Given the description of an element on the screen output the (x, y) to click on. 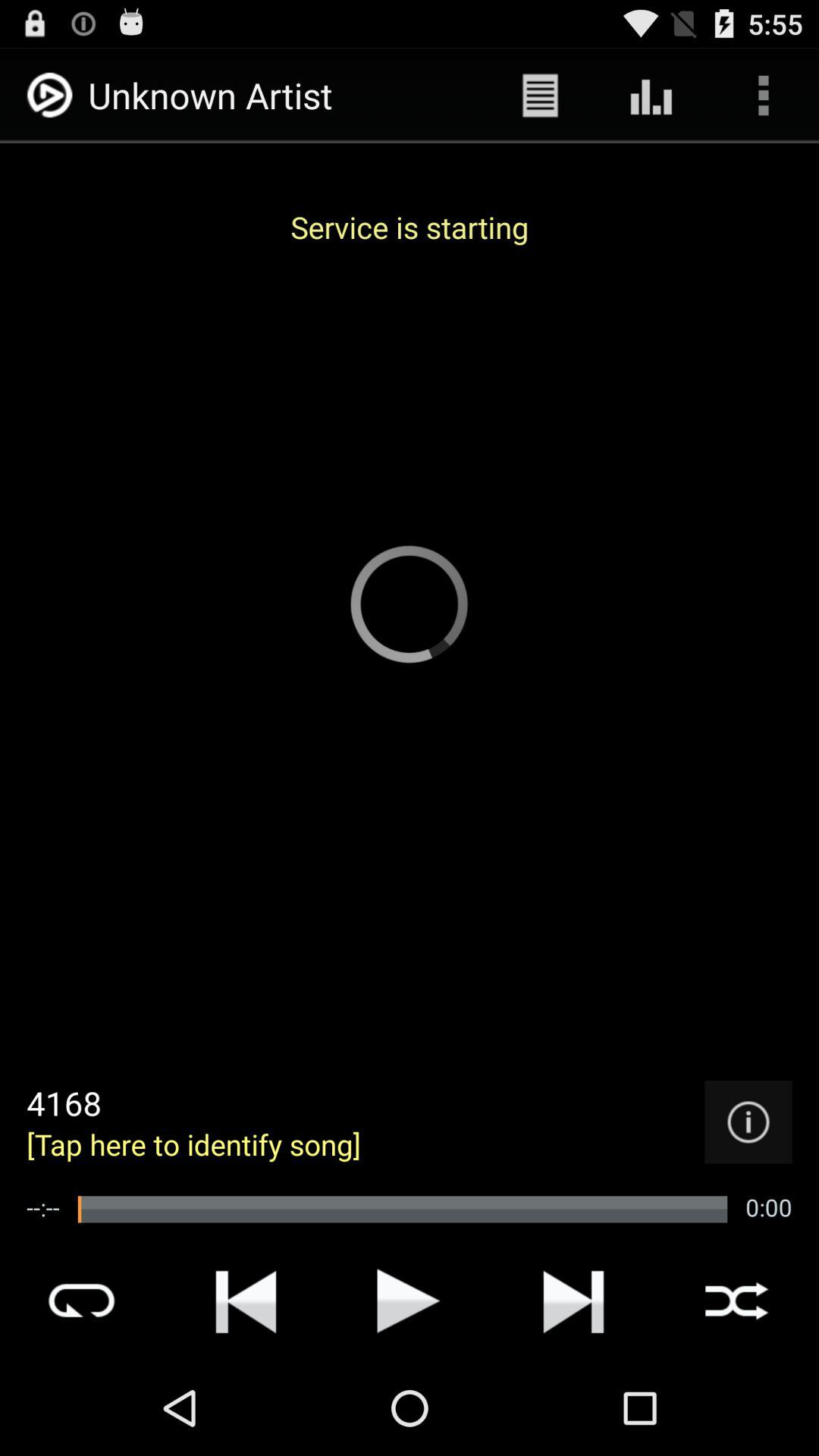
go back (245, 1300)
